Given the description of an element on the screen output the (x, y) to click on. 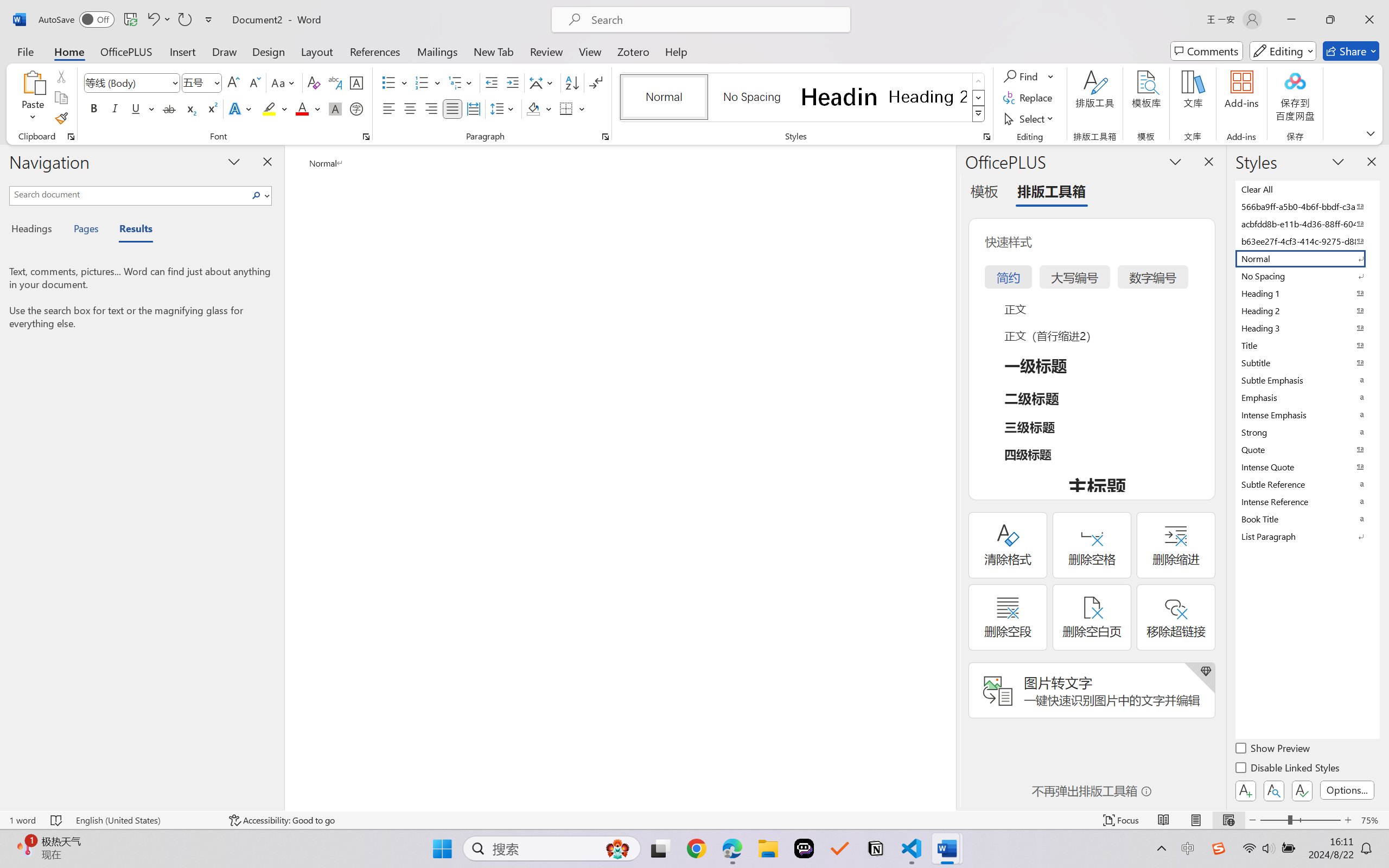
Font Color (308, 108)
Styles... (986, 136)
Headings (35, 229)
OfficePLUS (126, 51)
Subscript (190, 108)
Shading RGB(0, 0, 0) (533, 108)
Results (130, 229)
Search (256, 195)
